Given the description of an element on the screen output the (x, y) to click on. 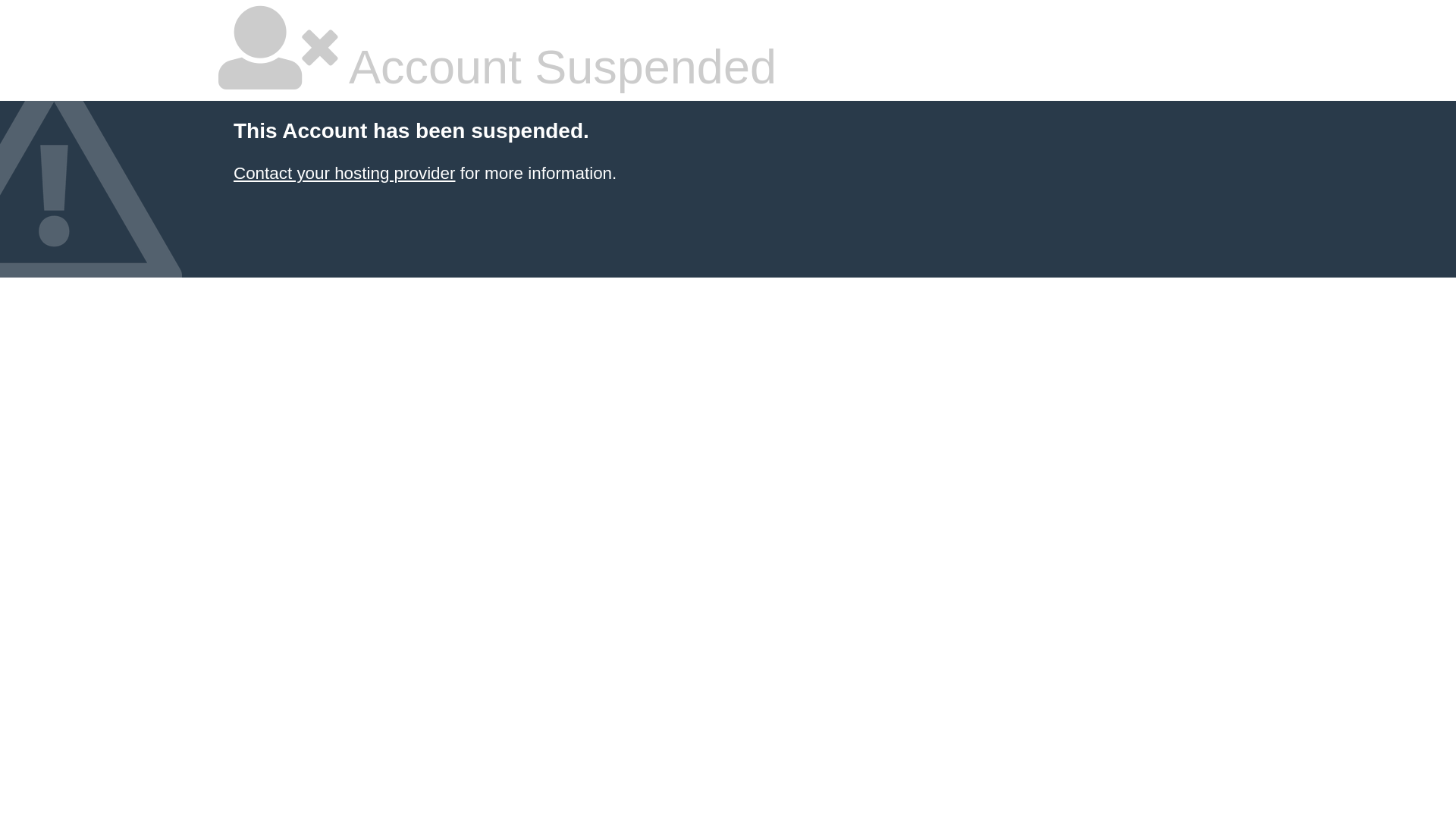
Contact your hosting provider Element type: text (344, 172)
